Given the description of an element on the screen output the (x, y) to click on. 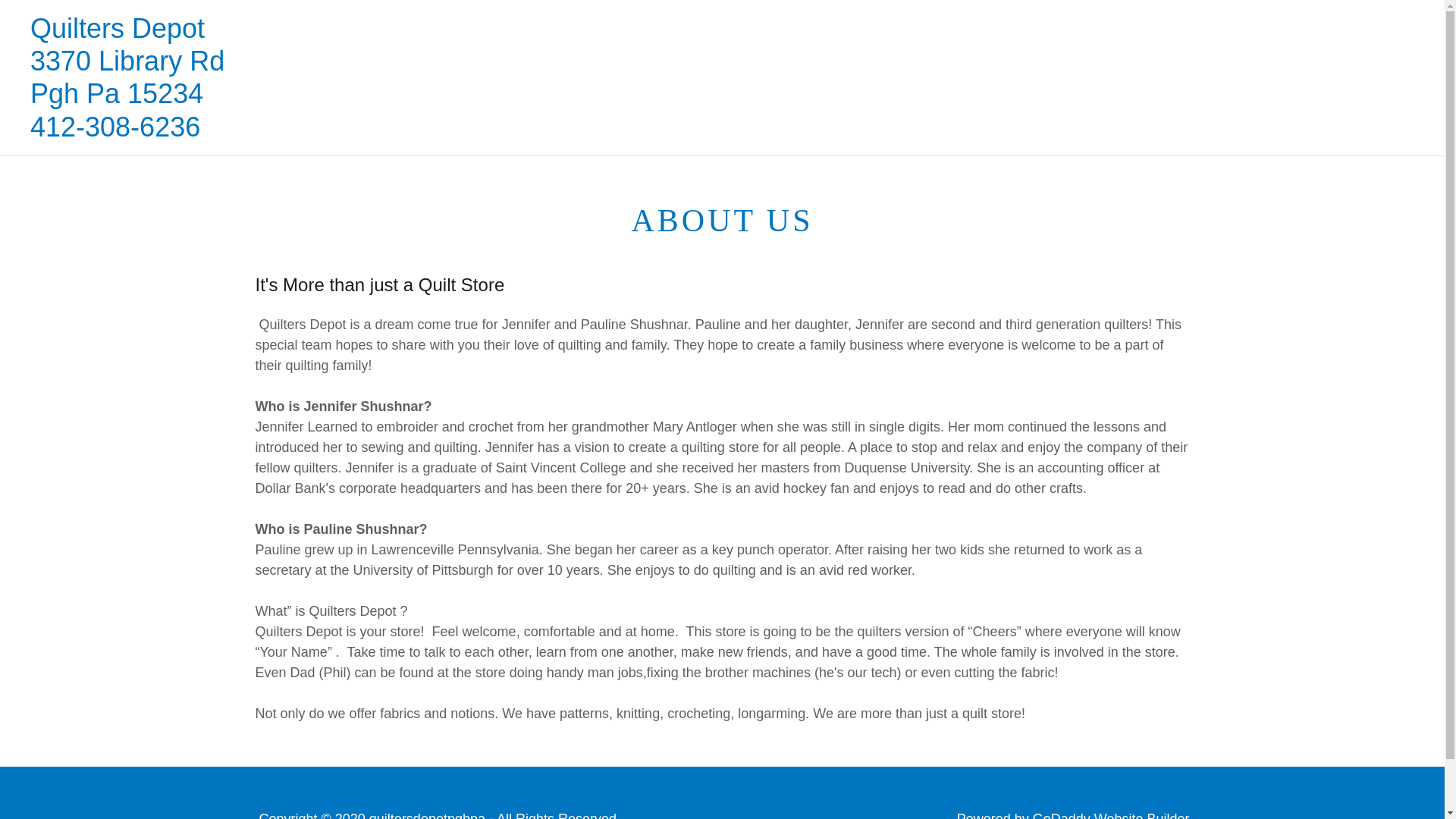
GoDaddy (1061, 815)
